Given the description of an element on the screen output the (x, y) to click on. 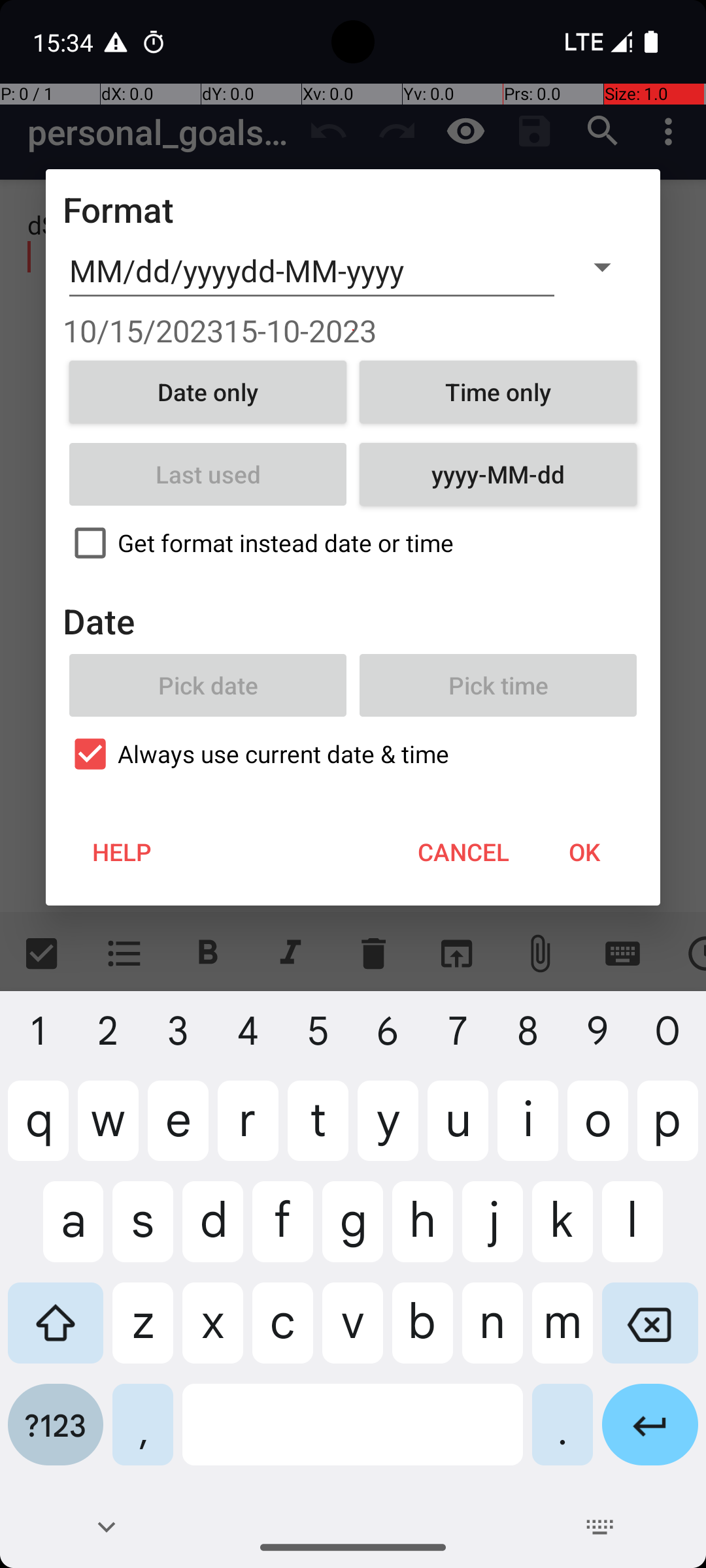
Format Element type: android.widget.TextView (118, 209)
MM/dd/yyyydd-MM-yyyy Element type: android.widget.EditText (311, 270)
Choose format Element type: android.widget.TextView (601, 266)
10/15/202315-10-2023 Element type: android.widget.TextView (352, 329)
Date only Element type: android.widget.Button (207, 391)
Time only Element type: android.widget.Button (498, 391)
Last used Element type: android.widget.Button (207, 474)
yyyy-MM-dd Element type: android.widget.Button (498, 474)
Get format instead date or time Element type: android.widget.CheckBox (352, 542)
Pick date Element type: android.widget.Button (207, 685)
Pick time Element type: android.widget.Button (498, 685)
Always use current date & time Element type: android.widget.CheckBox (352, 753)
HELP Element type: android.widget.Button (121, 851)
